Given the description of an element on the screen output the (x, y) to click on. 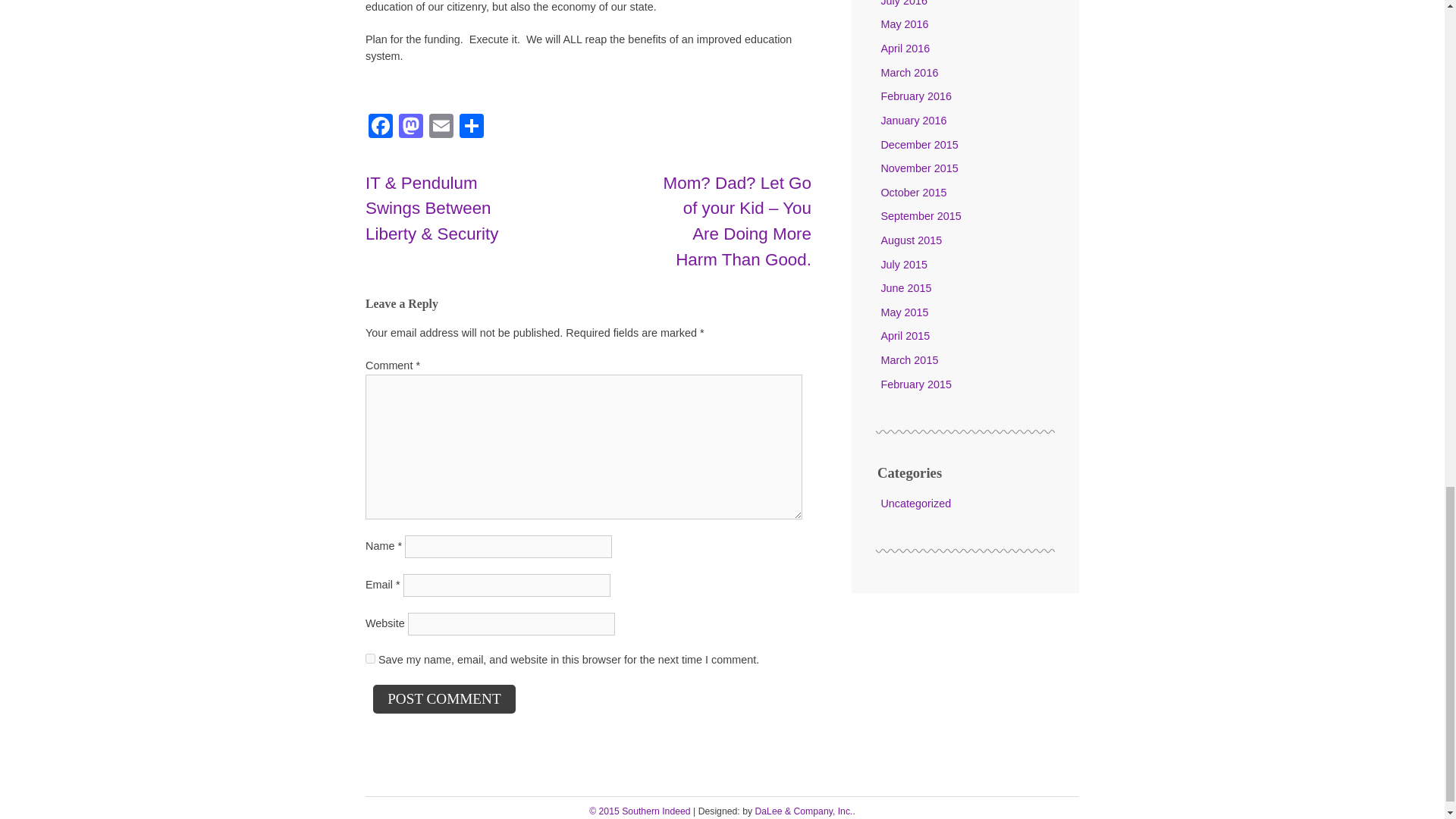
Email (441, 127)
Post Comment (443, 698)
Mastodon (411, 127)
Mastodon (411, 127)
Post Comment (443, 698)
Email (441, 127)
Share (471, 127)
Facebook (380, 127)
yes (370, 658)
Facebook (380, 127)
